Given the description of an element on the screen output the (x, y) to click on. 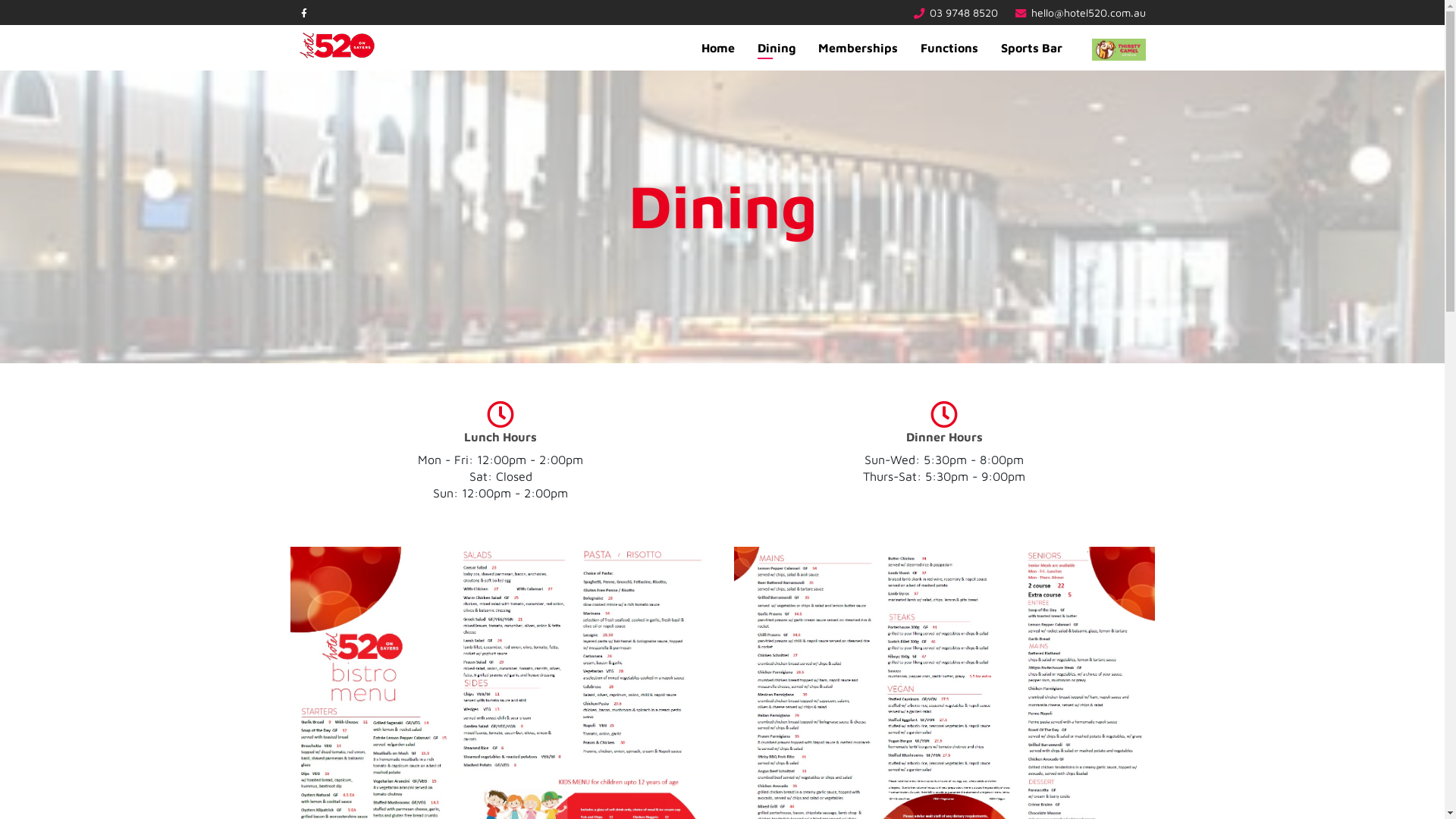
Functions Element type: text (948, 47)
Sports Bar Element type: text (1030, 47)
hello@hotel520.com.au Element type: text (1088, 12)
Home Element type: text (718, 47)
Memberships Element type: text (857, 47)
Dining Element type: text (776, 47)
03 9748 8520 Element type: text (963, 12)
